Given the description of an element on the screen output the (x, y) to click on. 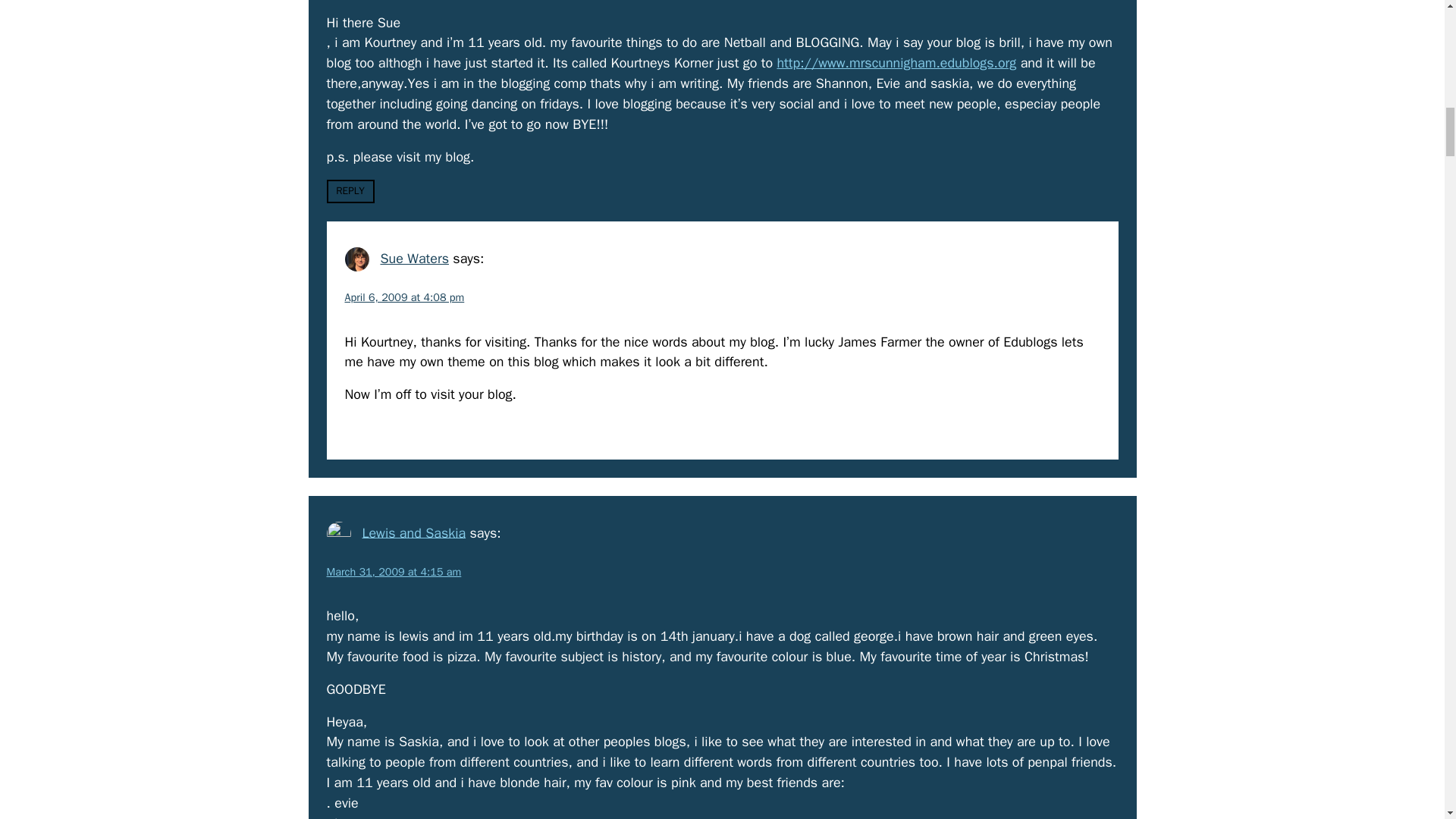
REPLY (367, 428)
Sue Waters (414, 258)
Lewis and Saskia (413, 532)
March 31, 2009 at 4:15 am (393, 571)
REPLY (350, 191)
April 6, 2009 at 4:08 pm (403, 296)
